Given the description of an element on the screen output the (x, y) to click on. 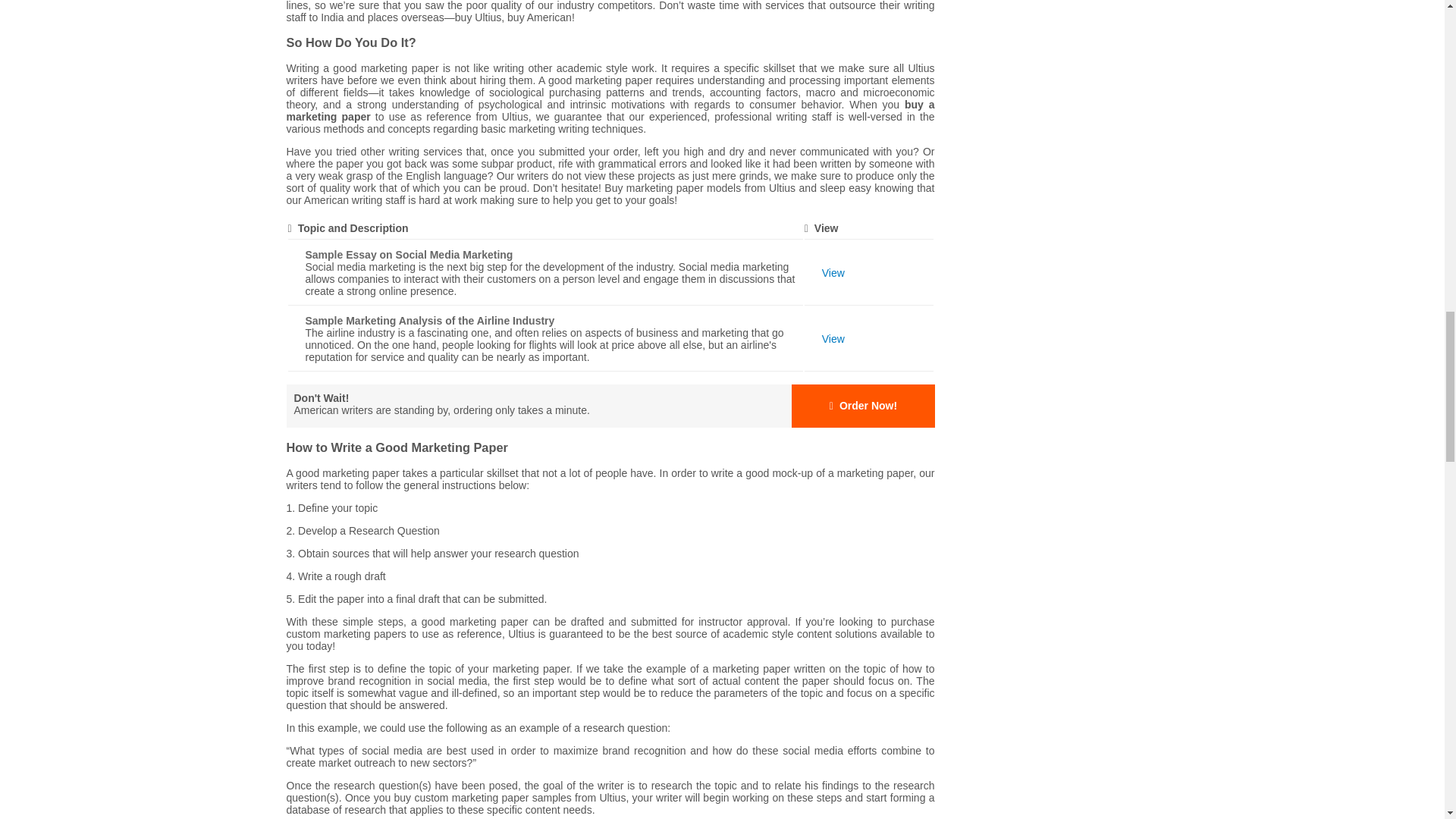
Buy Marketing Papers (610, 405)
Marketing Analysis of the Airline Industry (833, 338)
Essay on Social Media Marketing (833, 272)
